Given the description of an element on the screen output the (x, y) to click on. 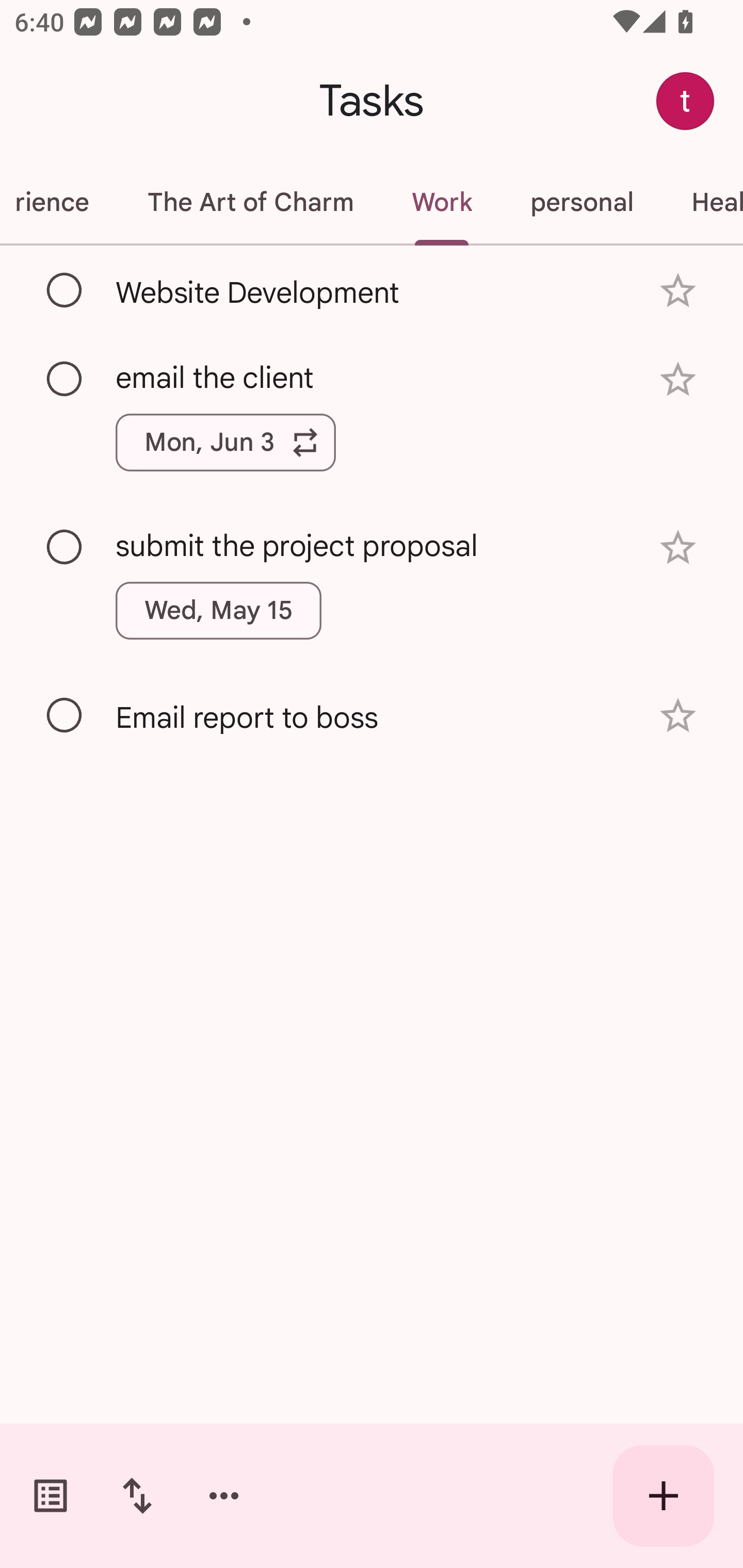
The Joe Rogan Experience (59, 202)
The Art of Charm (250, 202)
personal (581, 202)
Add star (677, 290)
Mark as complete (64, 290)
Add star (677, 379)
Mark as complete (64, 379)
Mon, Jun 3 (225, 442)
Add star (677, 547)
Mark as complete (64, 547)
Wed, May 15 (218, 610)
Add star (677, 715)
Mark as complete (64, 715)
Switch task lists (50, 1495)
Create new task (663, 1495)
Change sort order (136, 1495)
More options (223, 1495)
